Given the description of an element on the screen output the (x, y) to click on. 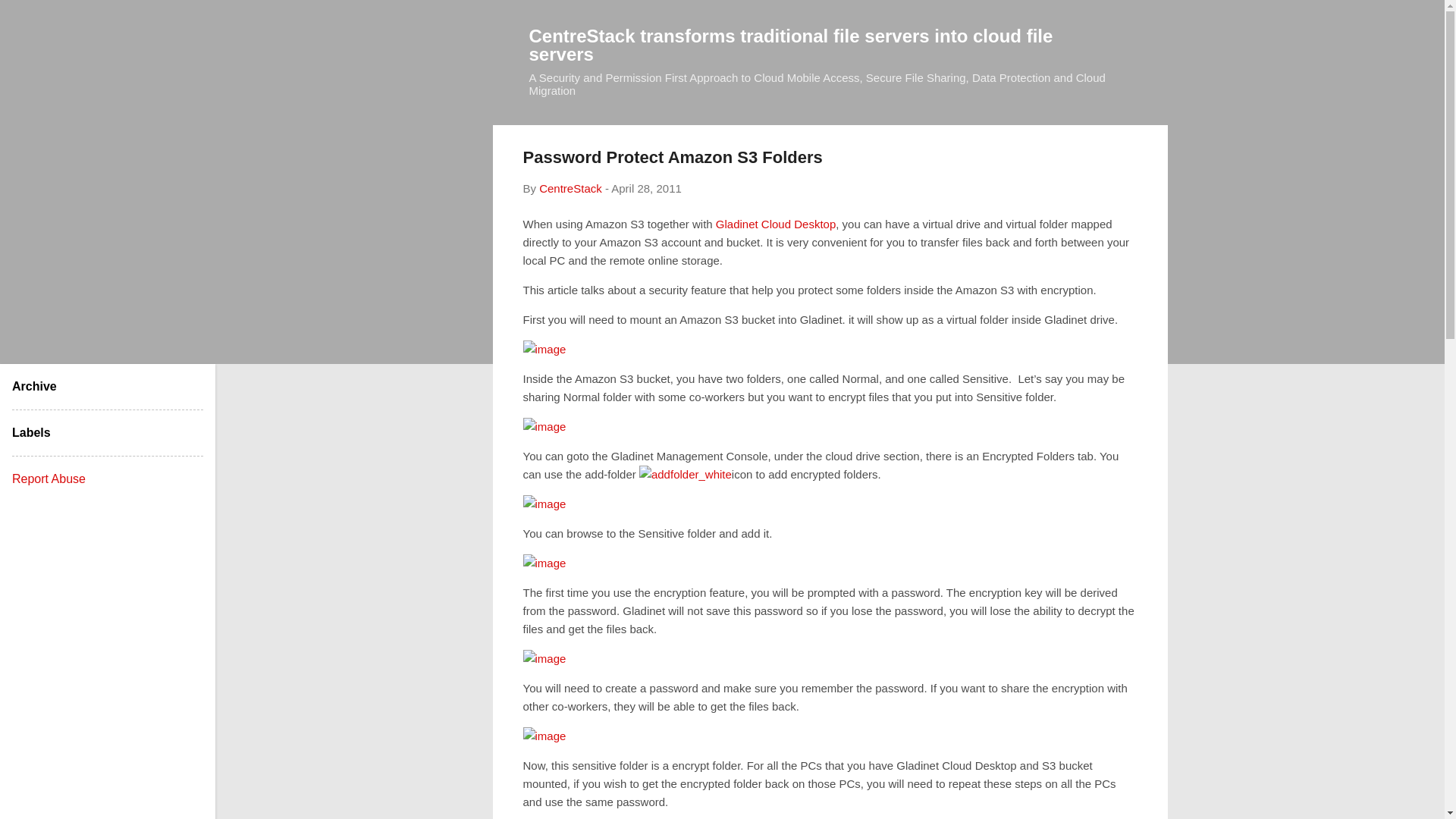
image (544, 503)
image (544, 658)
author profile (570, 187)
permanent link (646, 187)
image (544, 425)
April 28, 2011 (646, 187)
Gladinet Cloud Desktop (775, 223)
image (544, 348)
image (544, 562)
Search (29, 18)
CentreStack (570, 187)
image (544, 735)
